Given the description of an element on the screen output the (x, y) to click on. 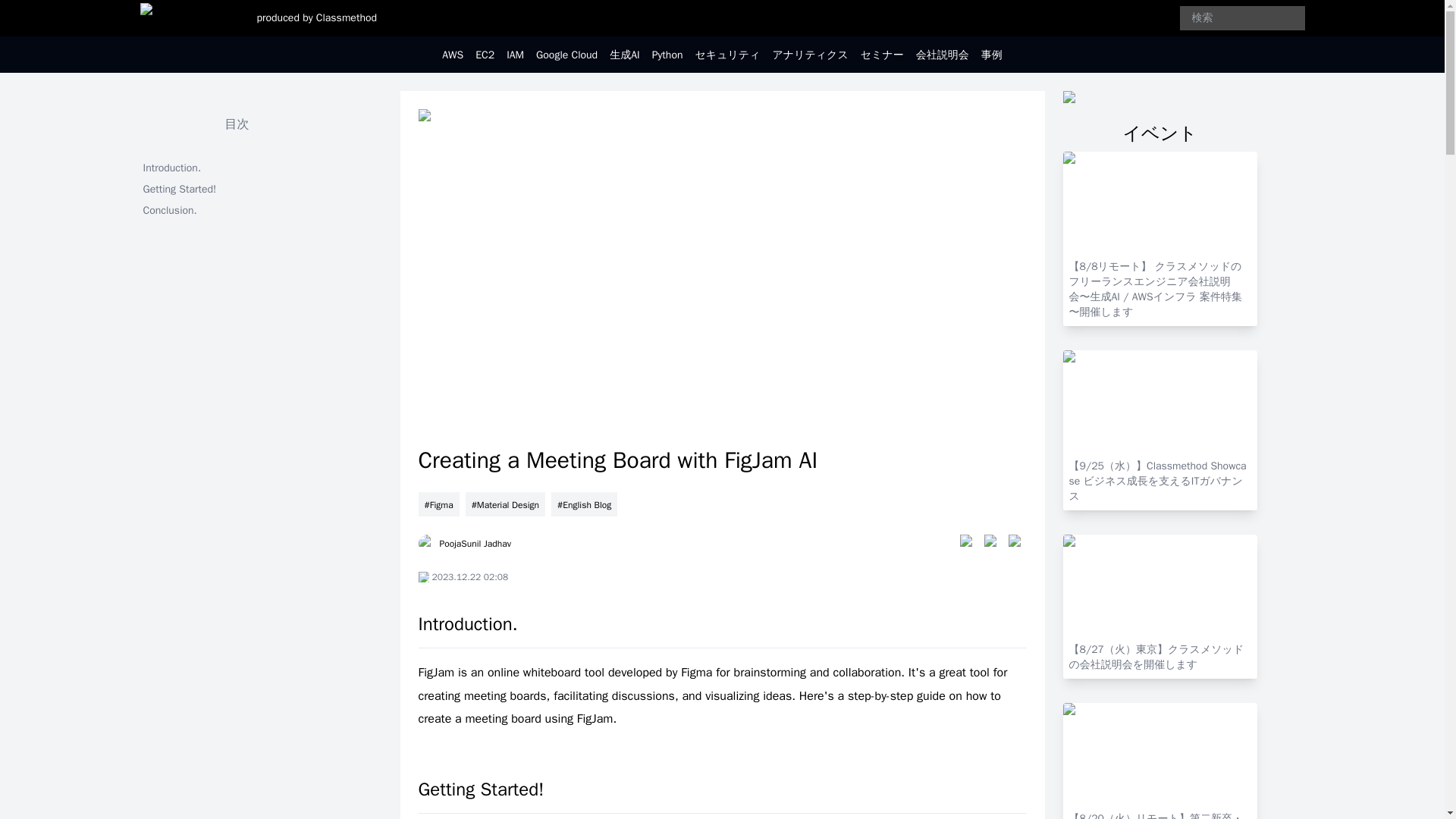
produced by Classmethod (316, 17)
Conclusion. (236, 210)
Getting Started! (236, 189)
Python (667, 54)
Google Cloud (565, 54)
IAM (515, 54)
PoojaSunil Jadhav (465, 543)
EC2 (485, 54)
AWS (452, 54)
Introduction. (236, 168)
